Given the description of an element on the screen output the (x, y) to click on. 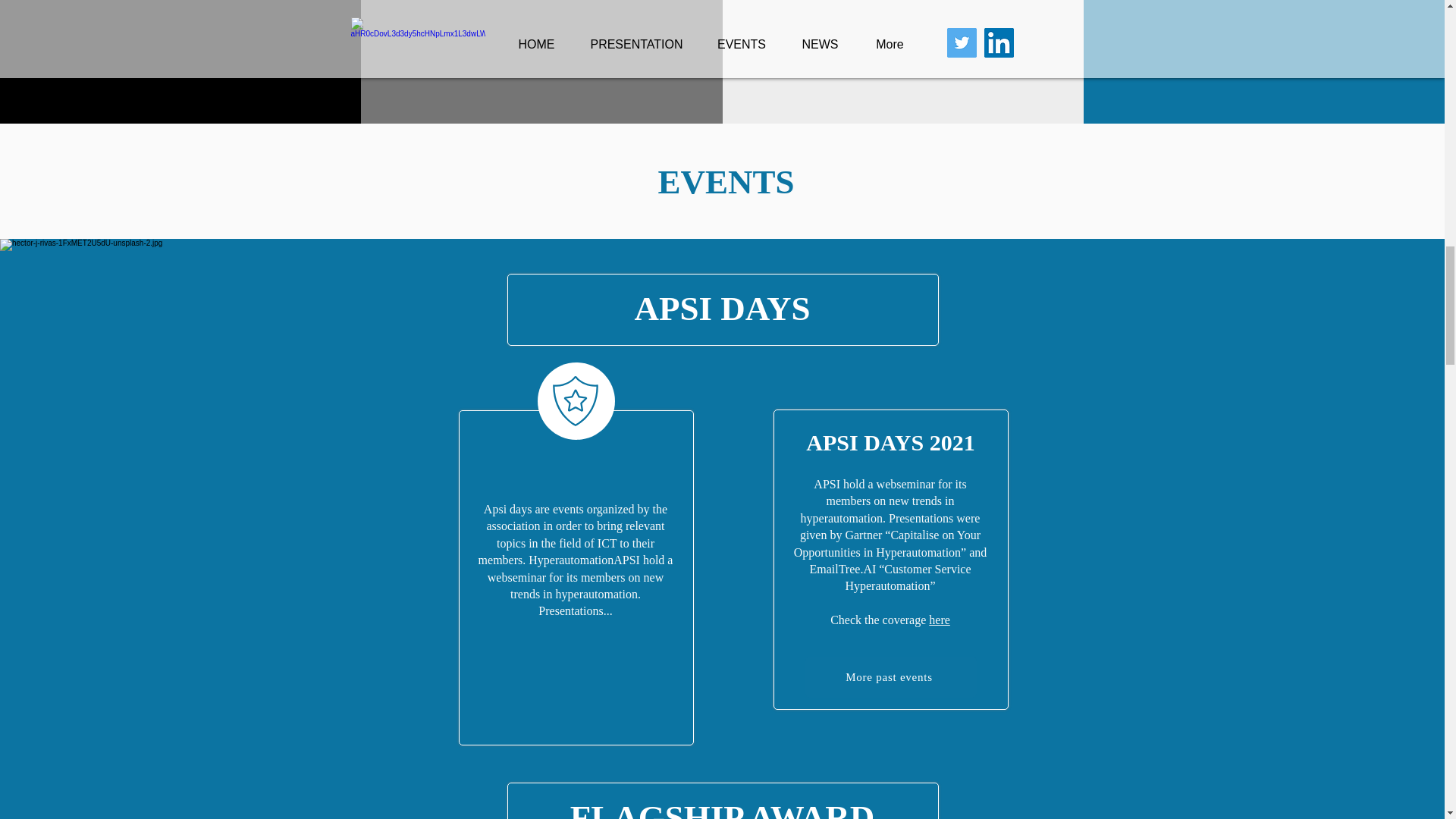
APSI DAYS (721, 308)
More past events (890, 676)
here (939, 619)
FLAGSHIP AWARD (722, 808)
APSI DAYS 2021 (890, 442)
